Given the description of an element on the screen output the (x, y) to click on. 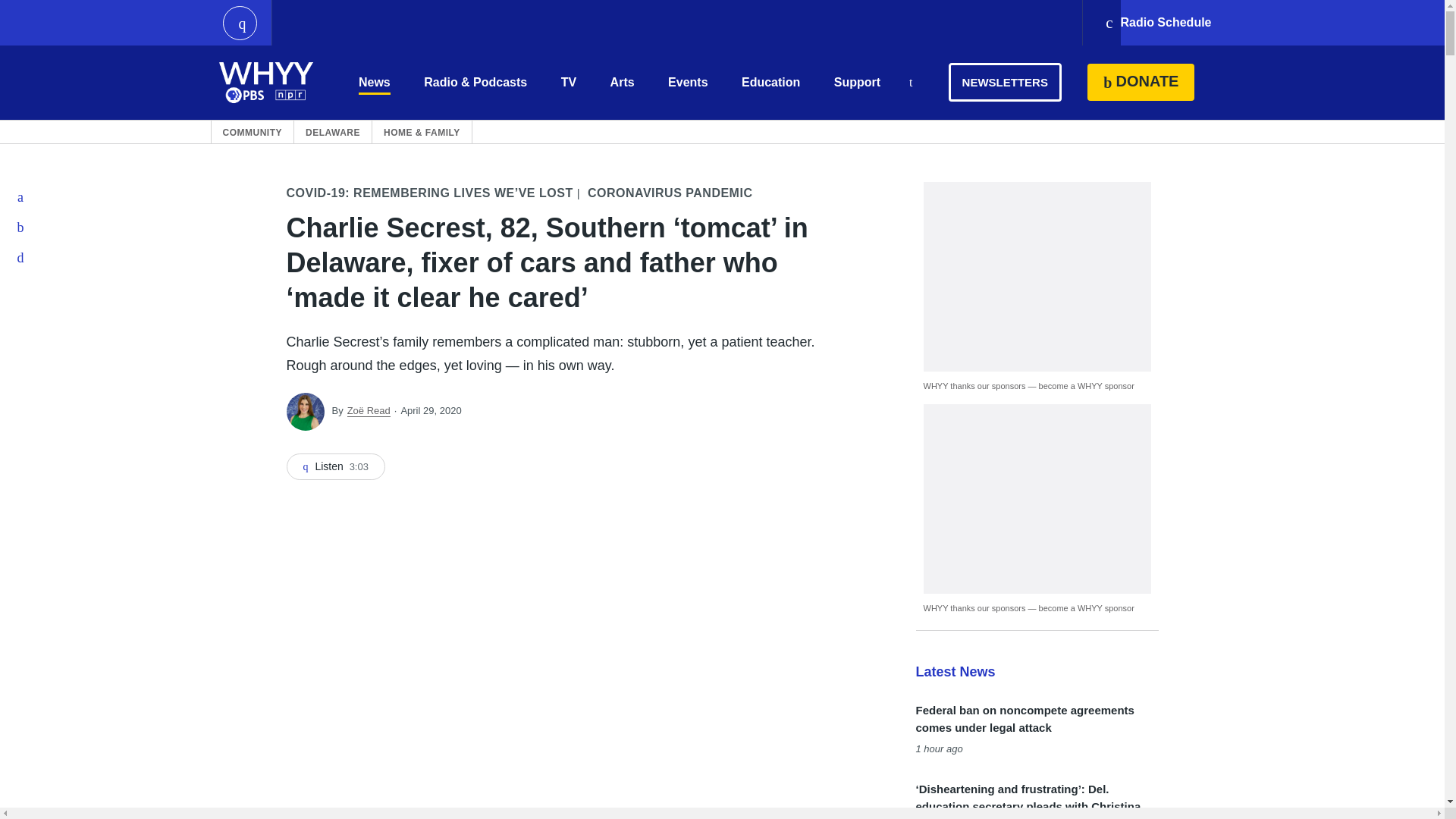
WHYY (266, 82)
Search (910, 83)
COMMUNITY (252, 132)
Twitter (21, 227)
Facebook (21, 196)
Radio Schedule (1157, 22)
Email (21, 257)
Facebook (21, 196)
DELAWARE (332, 132)
